Given the description of an element on the screen output the (x, y) to click on. 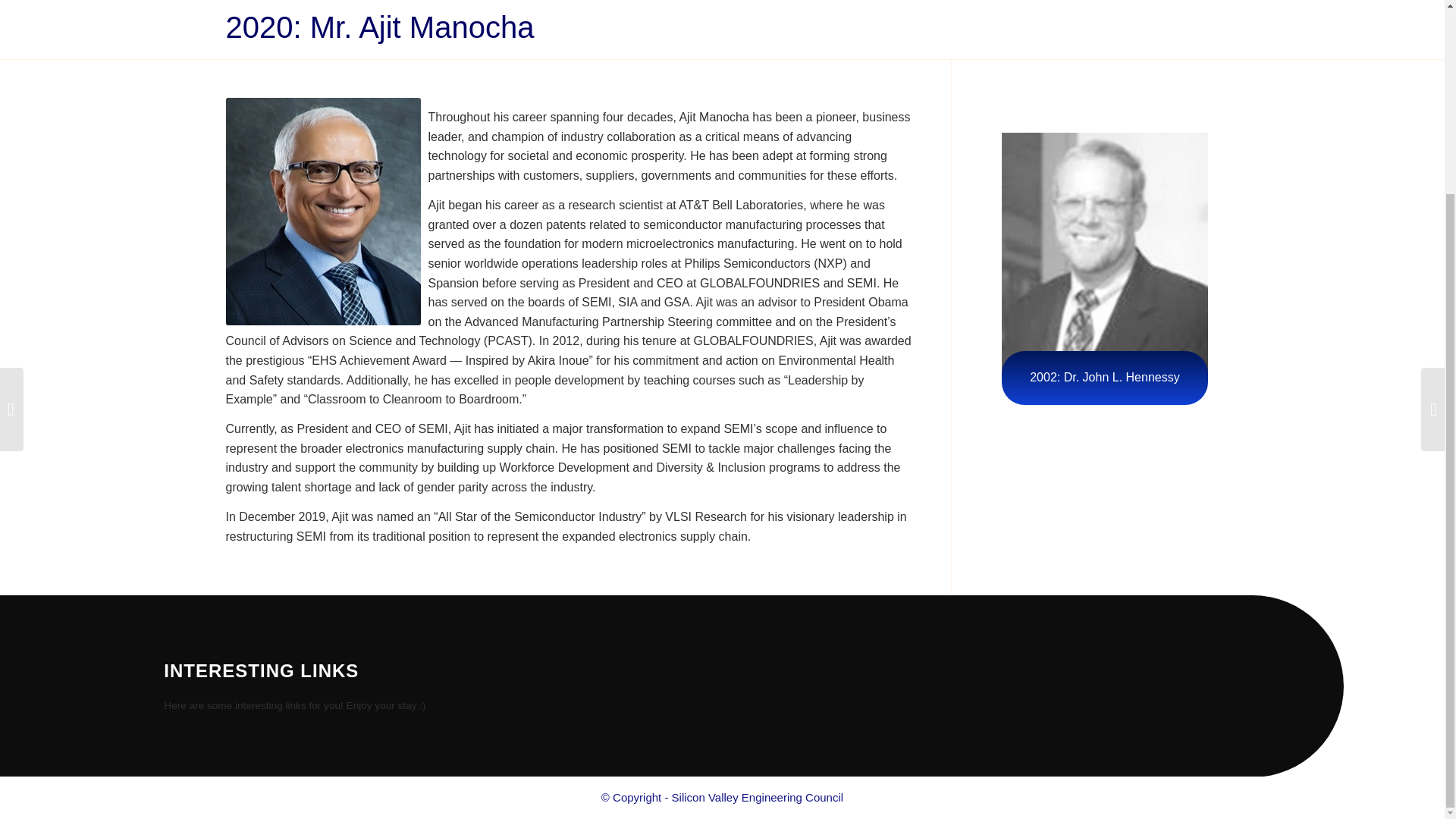
Permanent Link: 2020: Mr. Ajit Manocha (379, 27)
